Given the description of an element on the screen output the (x, y) to click on. 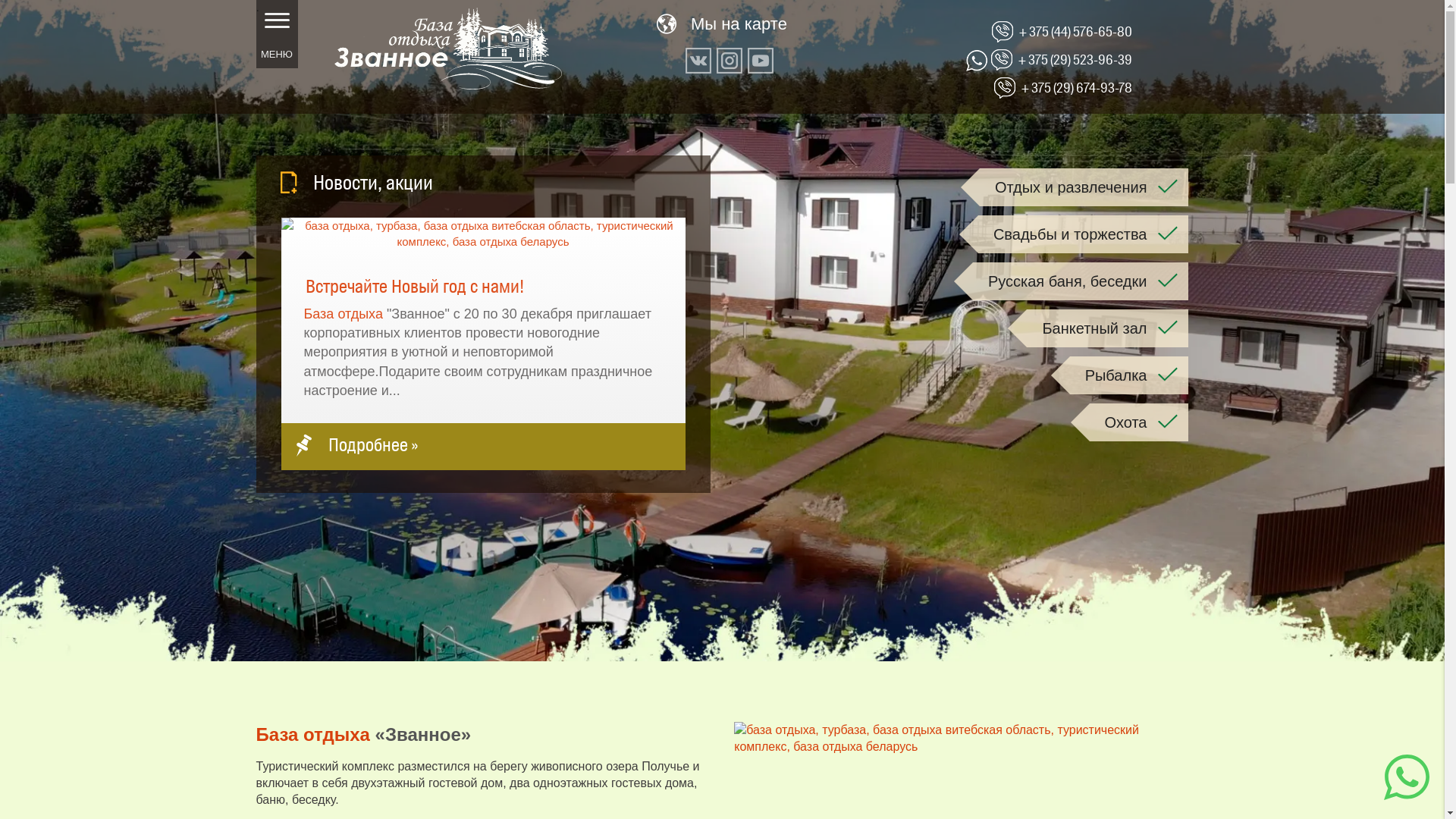
+ 375 (29) 523-96-39 Element type: text (1075, 59)
Instagram Element type: text (729, 60)
Vkontakte Element type: text (698, 60)
Youtube Element type: text (760, 60)
+ 375 (44) 576-65-80 Element type: text (1075, 31)
+ 375 (29) 674-93-78 Element type: text (1076, 87)
